Given the description of an element on the screen output the (x, y) to click on. 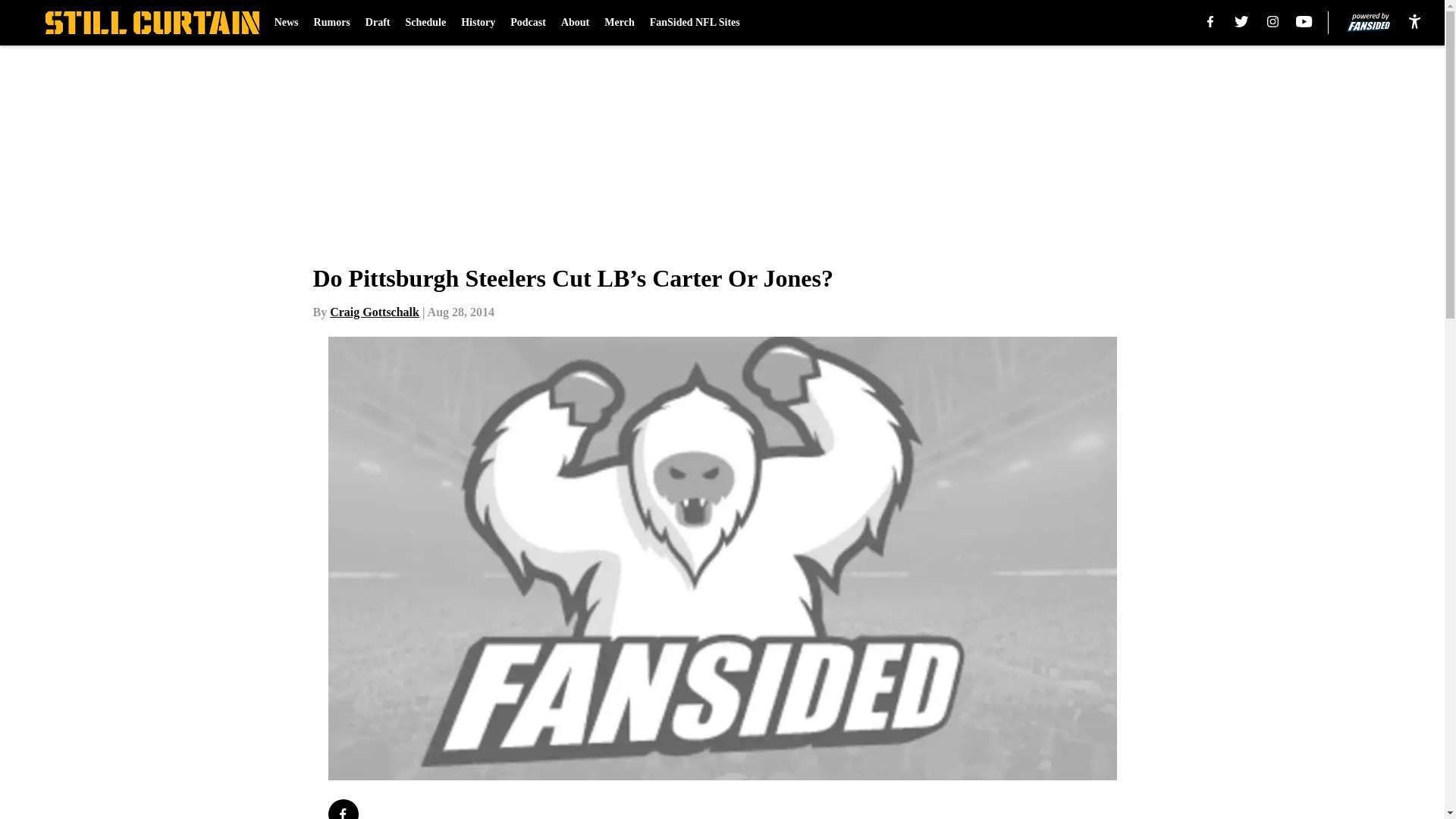
Rumors (332, 22)
Craig Gottschalk (374, 311)
Merch (618, 22)
News (286, 22)
Draft (377, 22)
FanSided NFL Sites (694, 22)
History (478, 22)
Podcast (528, 22)
Schedule (424, 22)
About (574, 22)
